Given the description of an element on the screen output the (x, y) to click on. 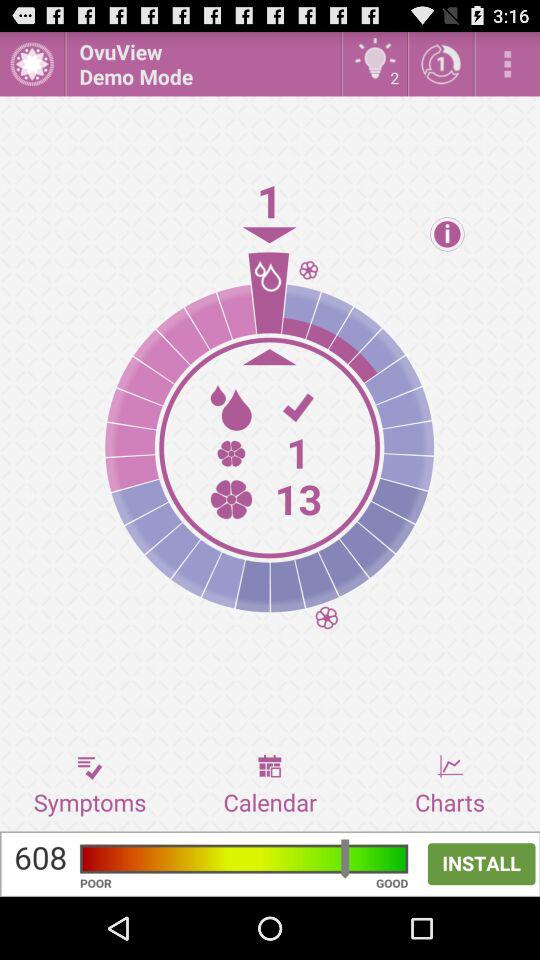
click the button (32, 63)
